Given the description of an element on the screen output the (x, y) to click on. 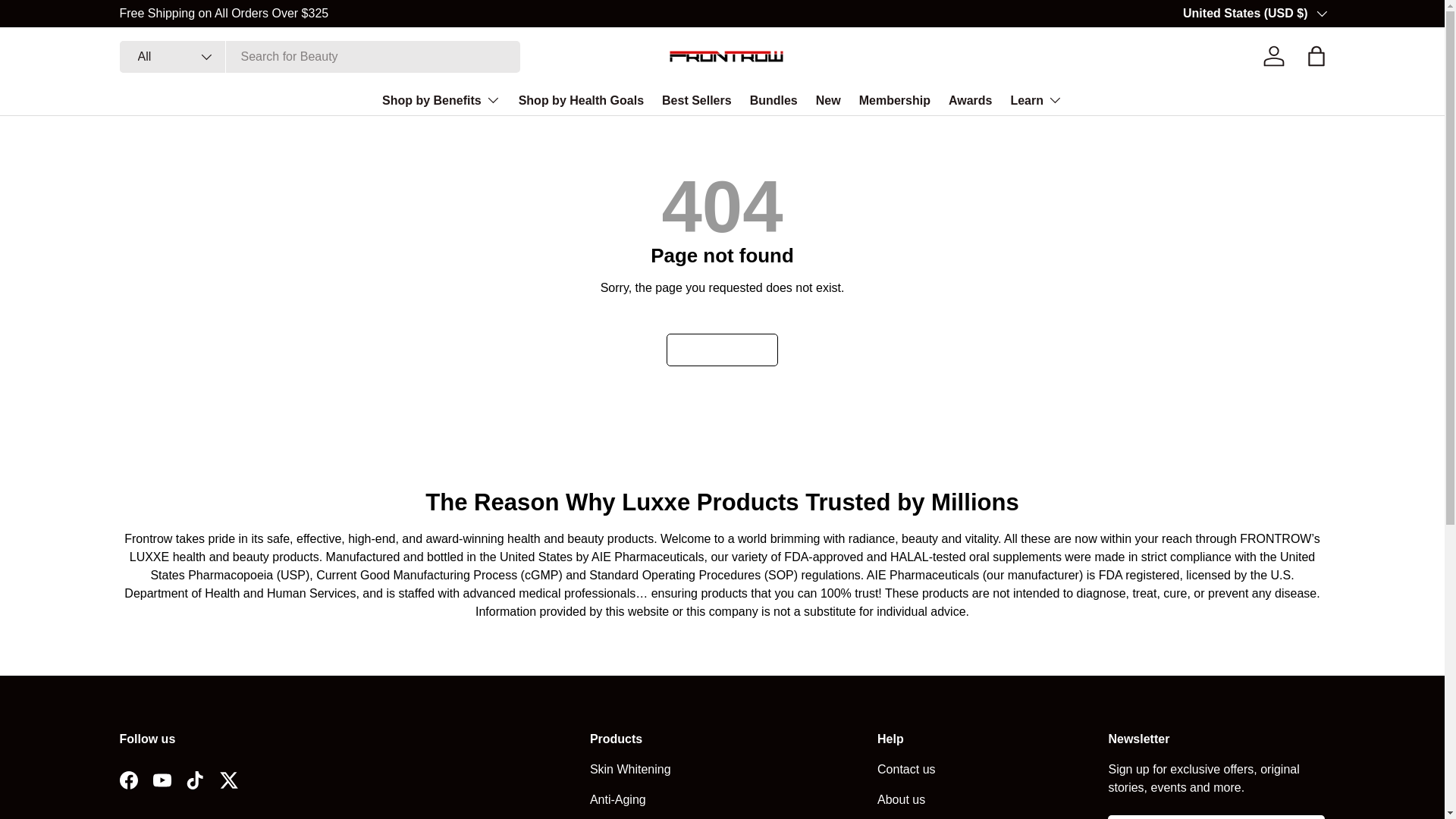
Luxxe White on YouTube (162, 779)
All (172, 56)
Luxxe White on Facebook (128, 779)
Shop by Health Goals (580, 100)
Bundles (773, 100)
Luxxe White on Twitter (229, 779)
Membership (894, 100)
Shop by Benefits (440, 100)
Luxxe White on TikTok (195, 779)
Skip to content (68, 21)
